Given the description of an element on the screen output the (x, y) to click on. 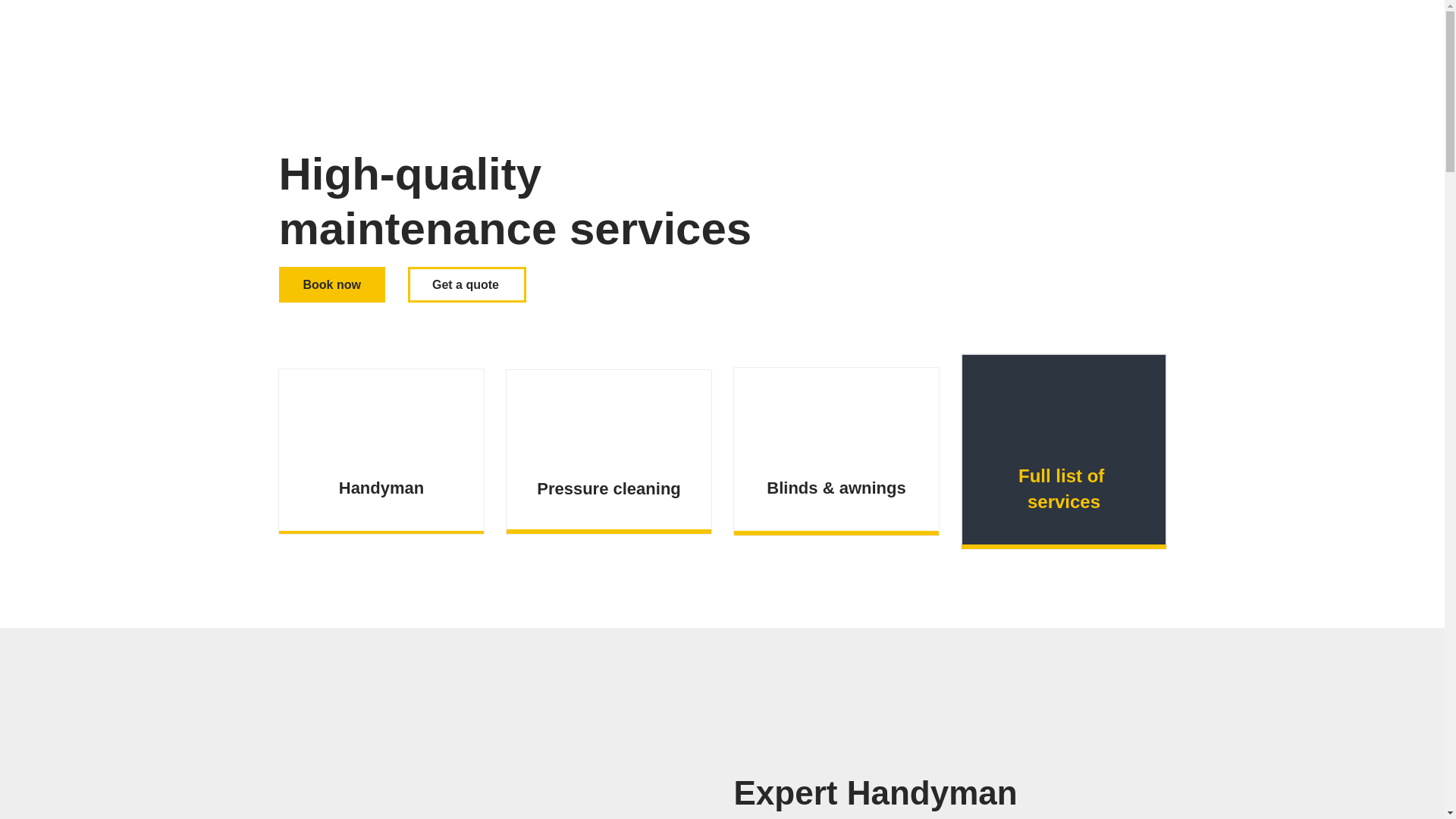
Blinds & awnings Element type: text (835, 488)
Get a quote Element type: text (466, 284)
Pressure cleaning Element type: text (608, 489)
Full list of services Element type: text (1062, 489)
Handyman Element type: text (380, 488)
Book now Element type: text (332, 284)
